Given the description of an element on the screen output the (x, y) to click on. 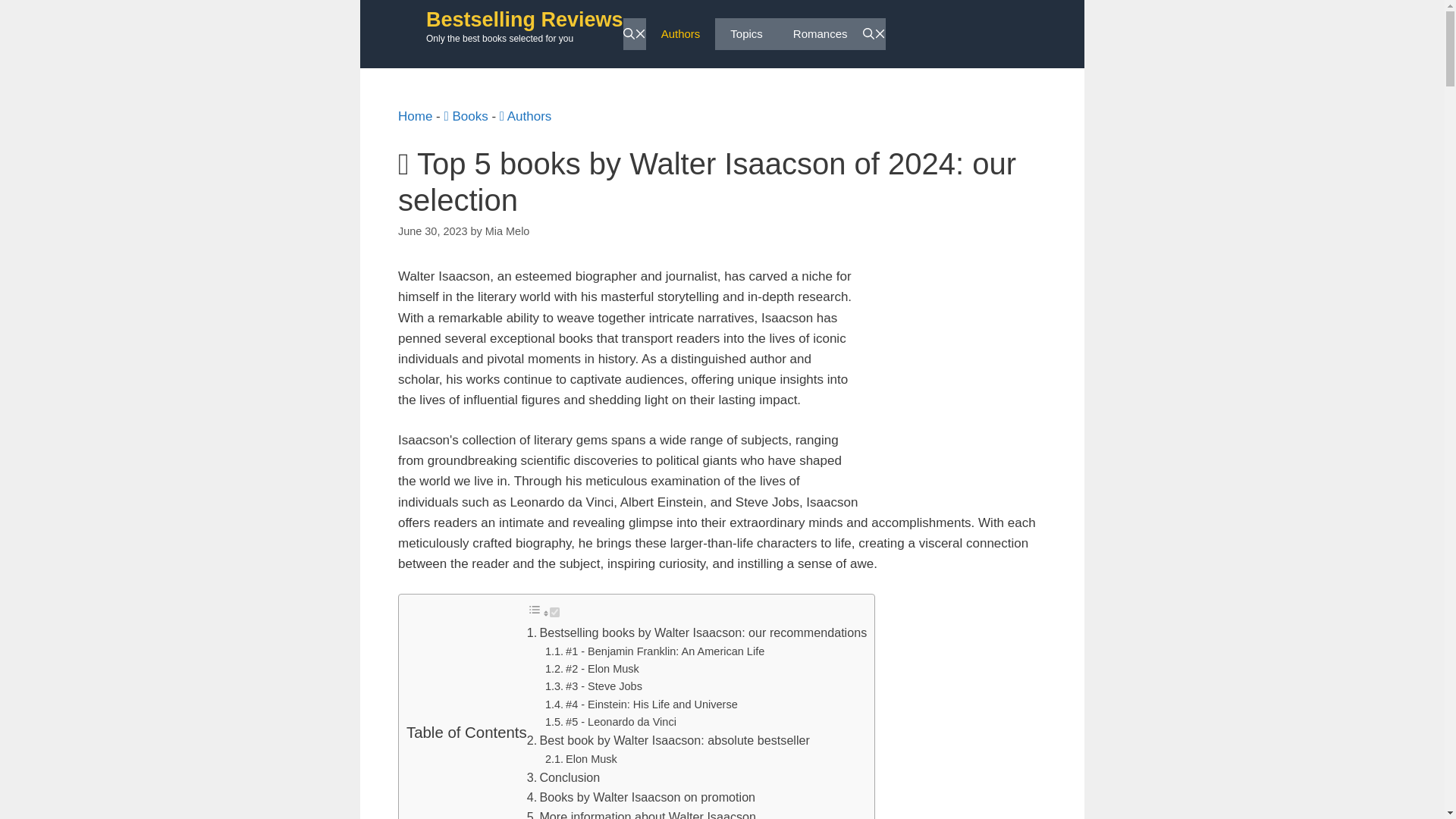
Books by Walter Isaacson on promotion (646, 796)
Romances (820, 33)
Conclusion (568, 776)
Best book by Walter Isaacson: absolute bestseller (673, 739)
Bestselling Reviews (524, 19)
on (554, 612)
More information about Walter Isaacson (646, 814)
Books by Walter Isaacson on promotion (646, 796)
Topics (745, 33)
Elon Musk (591, 758)
Mia Melo (506, 231)
Elon Musk (591, 758)
Best book by Walter Isaacson: absolute bestseller (673, 739)
More information about Walter Isaacson (646, 814)
Bestselling books by Walter Isaacson: our recommendations (702, 632)
